Given the description of an element on the screen output the (x, y) to click on. 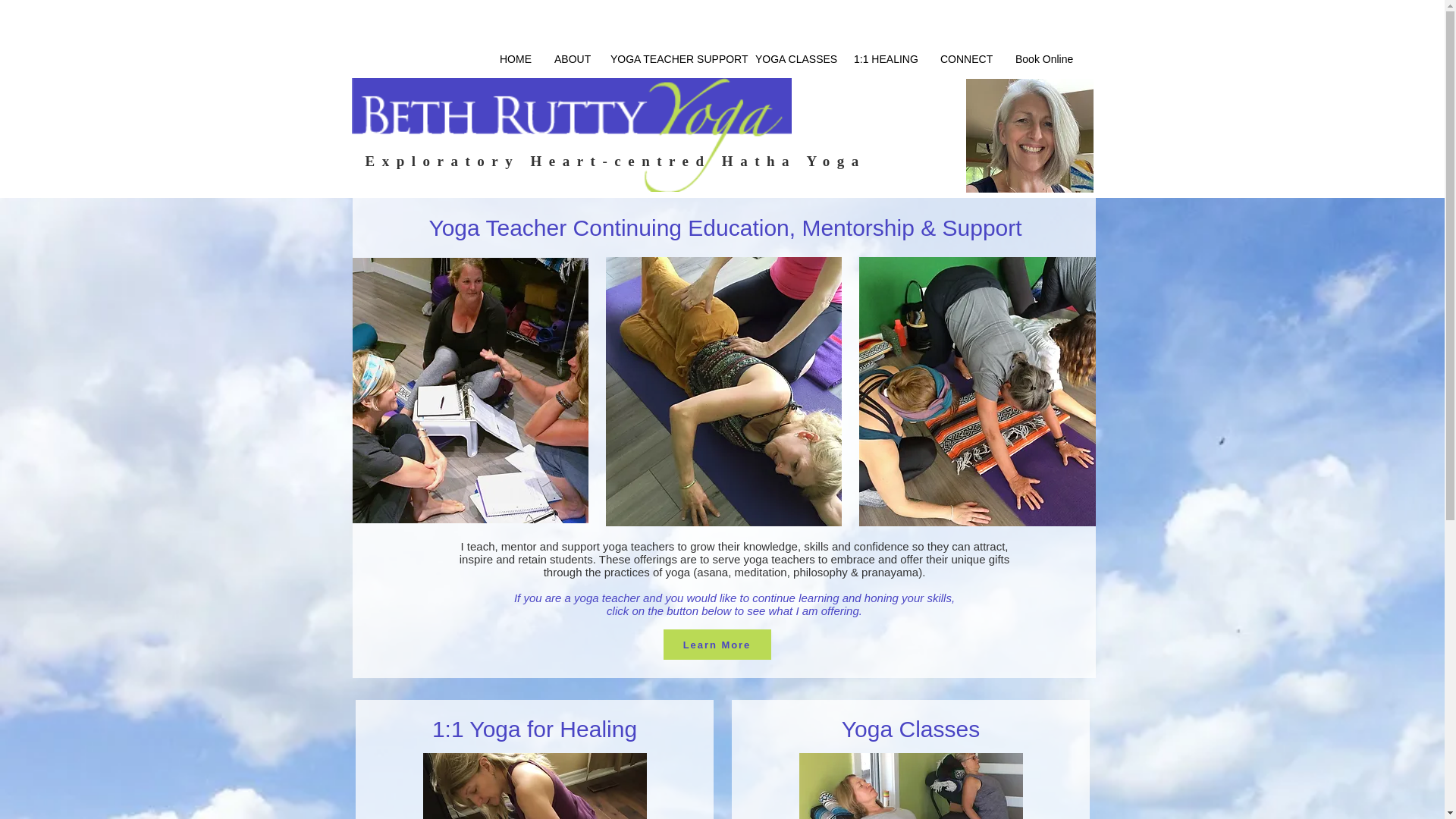
1:1 HEALING (885, 58)
CONNECT (966, 58)
Learn More (716, 644)
YOGA TEACHER SUPPORT (671, 58)
ABOUT (570, 58)
HOME (515, 58)
YOGA CLASSES (793, 58)
Book Online (1042, 58)
